Given the description of an element on the screen output the (x, y) to click on. 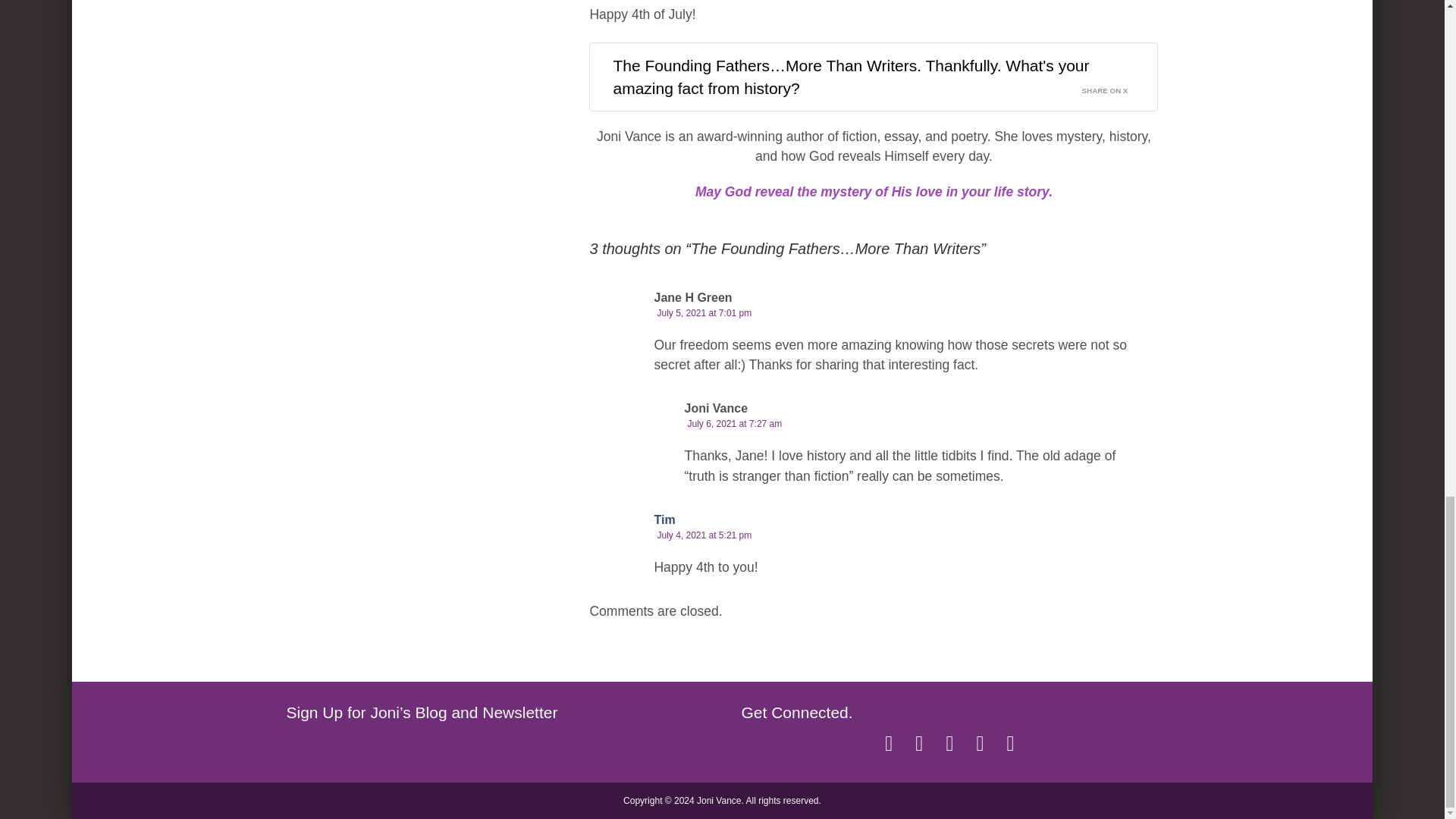
July 4, 2021 at 5:21 pm (703, 534)
Tim (664, 519)
July 6, 2021 at 7:27 am (734, 423)
SHARE ON X (1114, 86)
July 5, 2021 at 7:01 pm (703, 312)
